Given the description of an element on the screen output the (x, y) to click on. 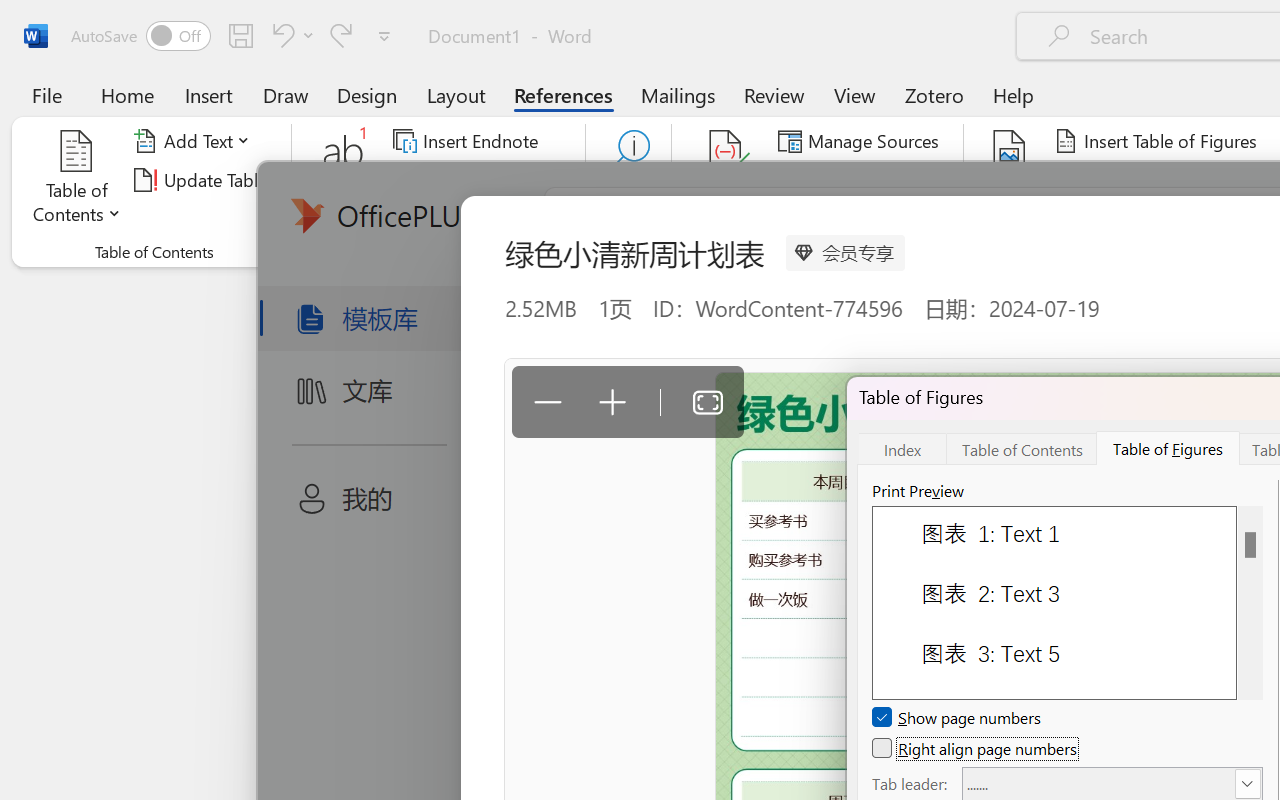
Insert Footnote (344, 179)
Cross-reference... (1133, 218)
Update Table (1124, 179)
Insert Caption... (1009, 180)
Table of Contents (1022, 447)
Bibliography (854, 218)
Update Table... (204, 179)
Show Notes (459, 218)
Print Preview (1249, 602)
